Given the description of an element on the screen output the (x, y) to click on. 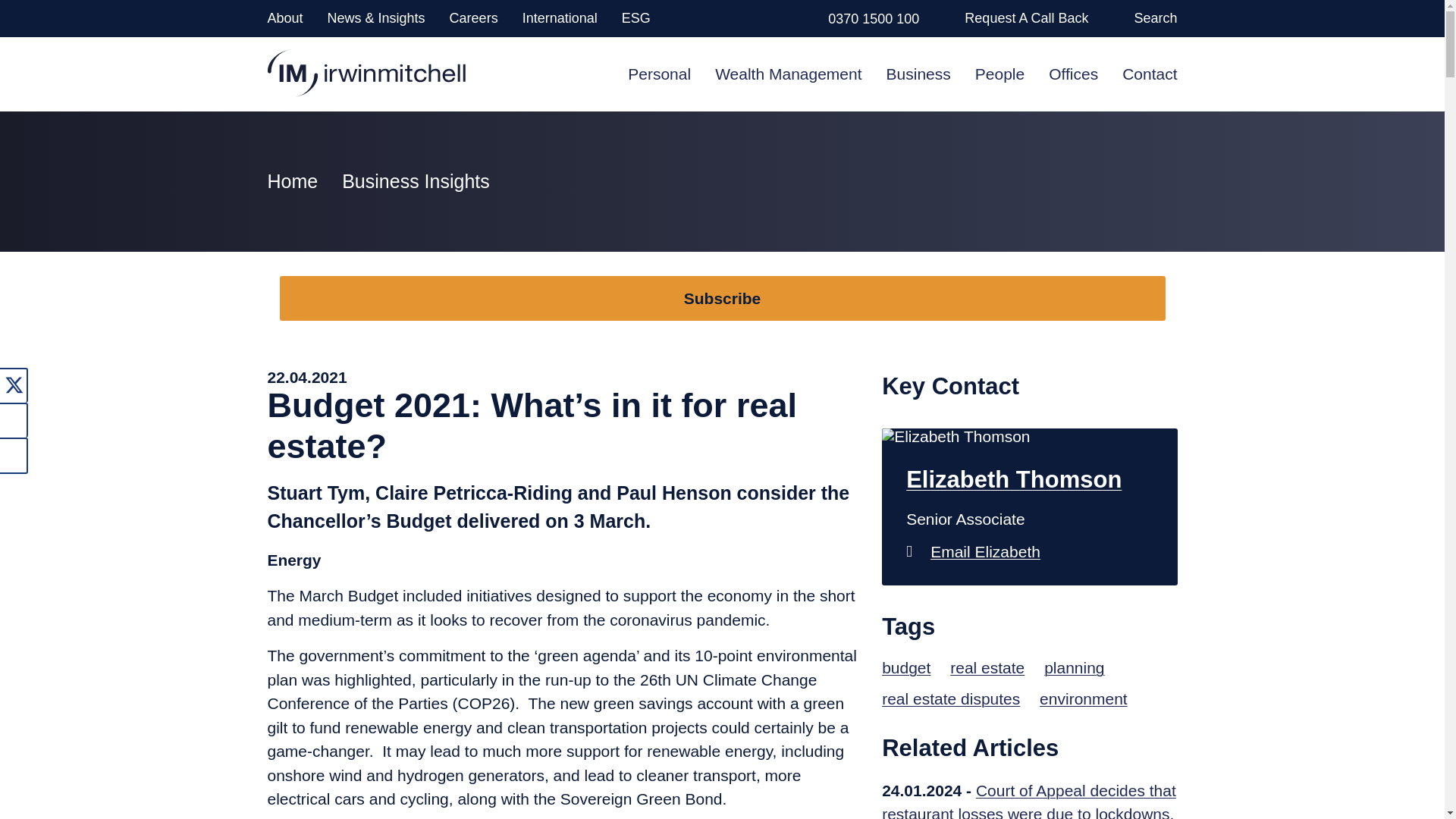
Careers (473, 18)
Request A Call Back (1025, 18)
International (559, 18)
Search (1155, 18)
Personal (658, 73)
0370 1500 100 (873, 18)
About (284, 18)
